Given the description of an element on the screen output the (x, y) to click on. 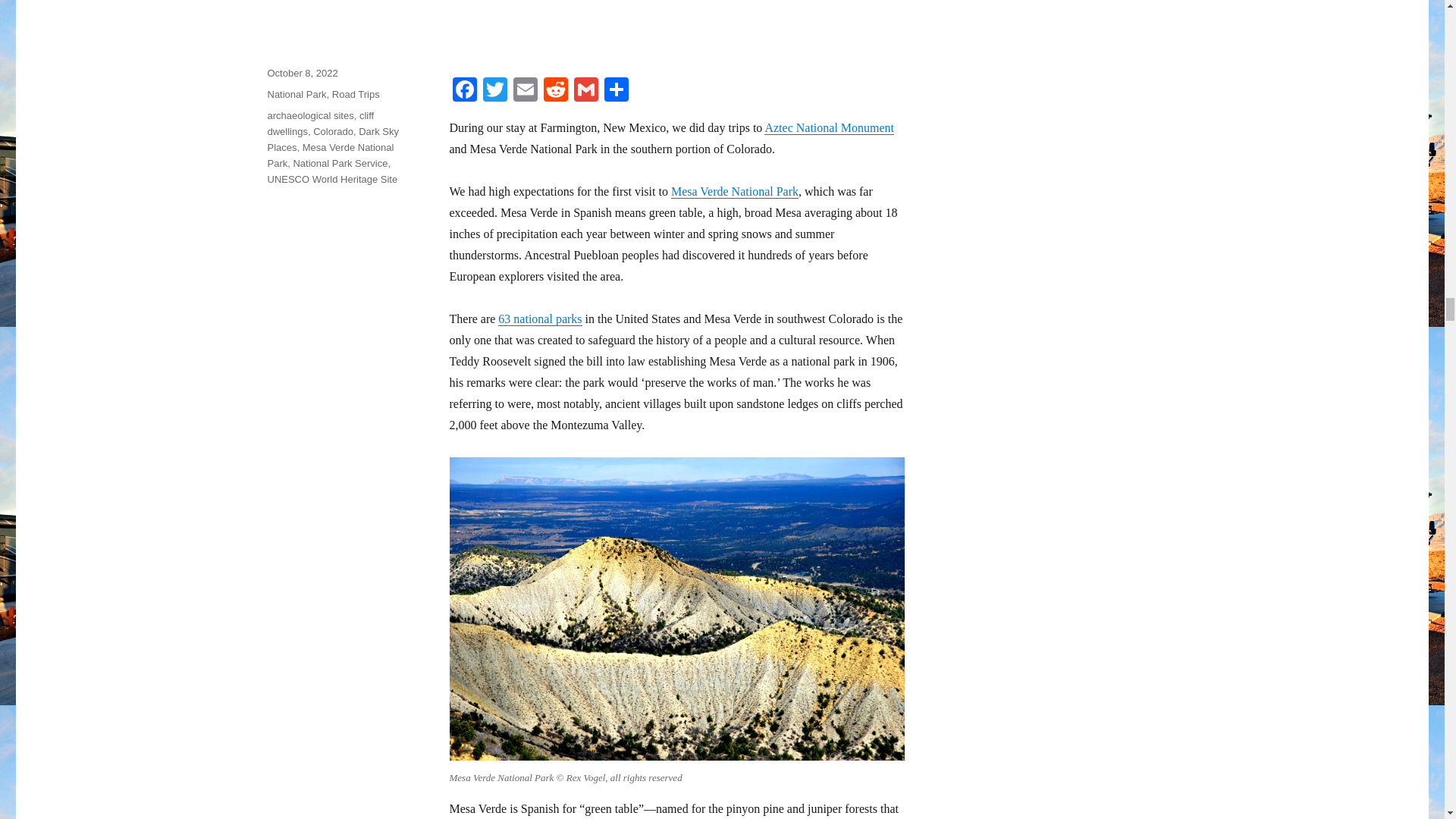
Gmail (584, 90)
Facebook (463, 90)
Twitter (494, 90)
Reddit (555, 90)
Email (524, 90)
